Given the description of an element on the screen output the (x, y) to click on. 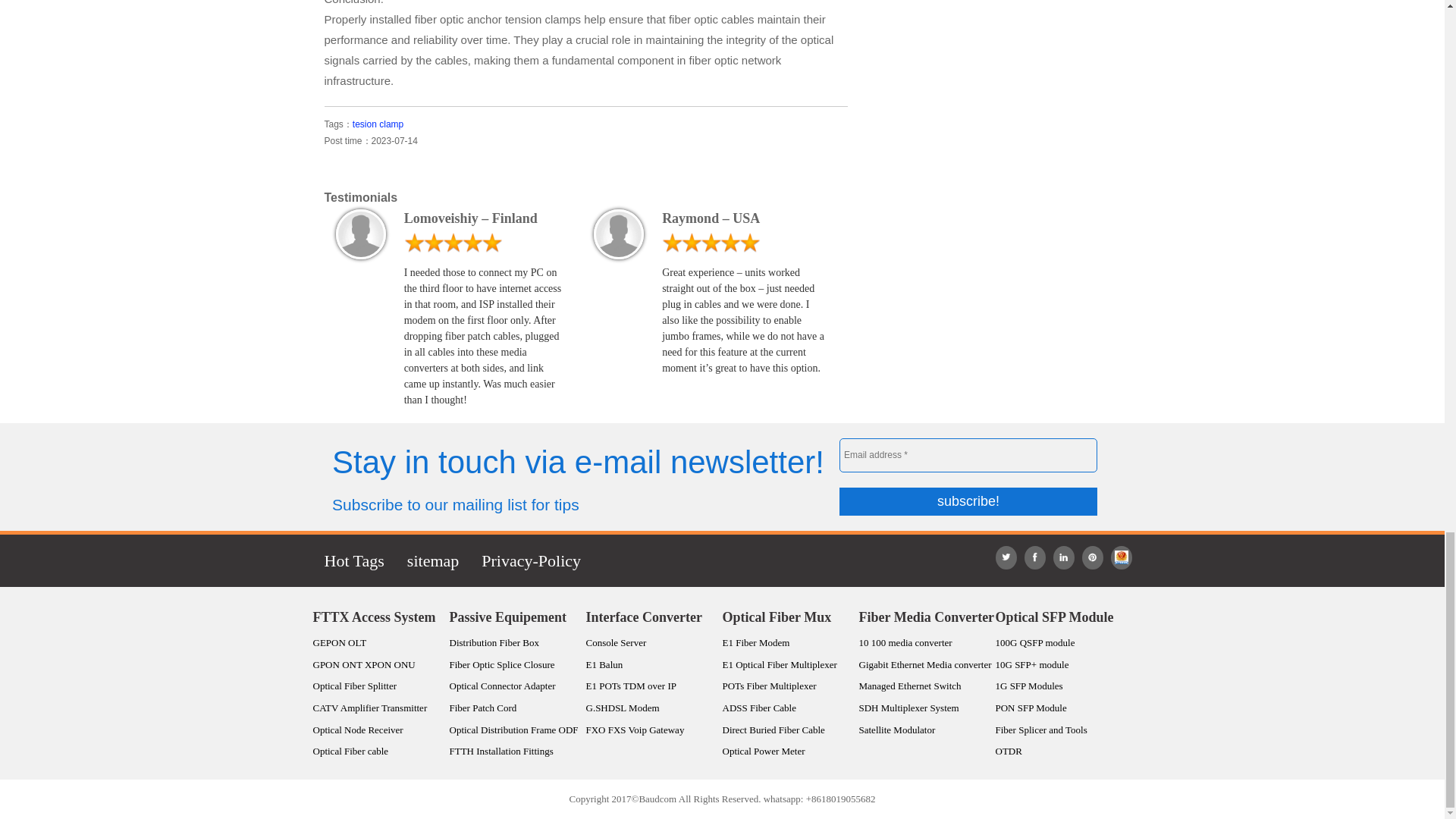
subscribe! (968, 501)
tesion clamp (377, 123)
Email address (968, 455)
